Given the description of an element on the screen output the (x, y) to click on. 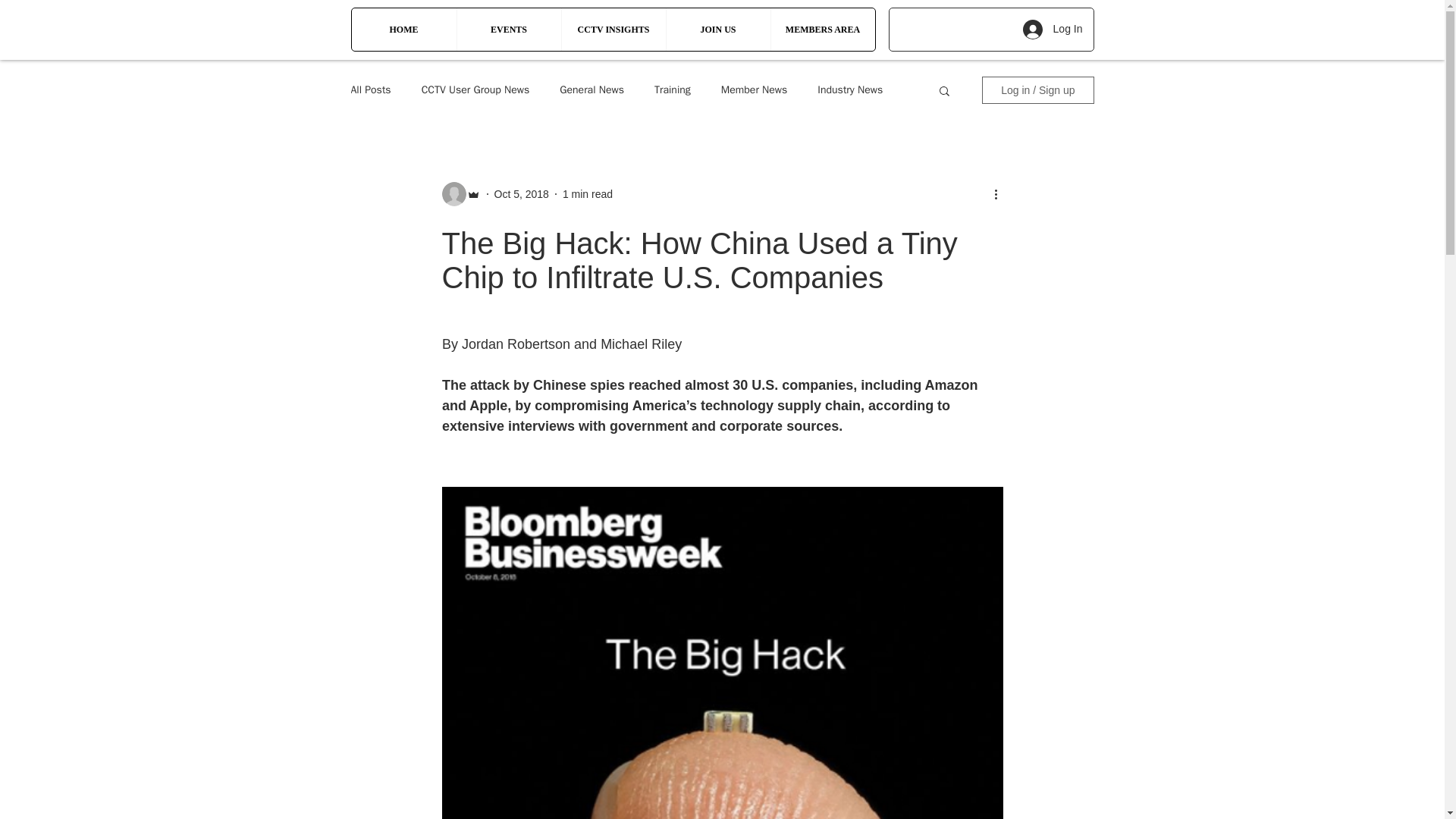
General News (591, 90)
Industry News (849, 90)
Training (671, 90)
1 min read (587, 193)
HOME (404, 29)
MEMBERS AREA (822, 29)
Member News (753, 90)
CCTV User Group News (475, 90)
EVENTS (508, 29)
Log In (1052, 29)
All Posts (370, 90)
Oct 5, 2018 (521, 193)
